Given the description of an element on the screen output the (x, y) to click on. 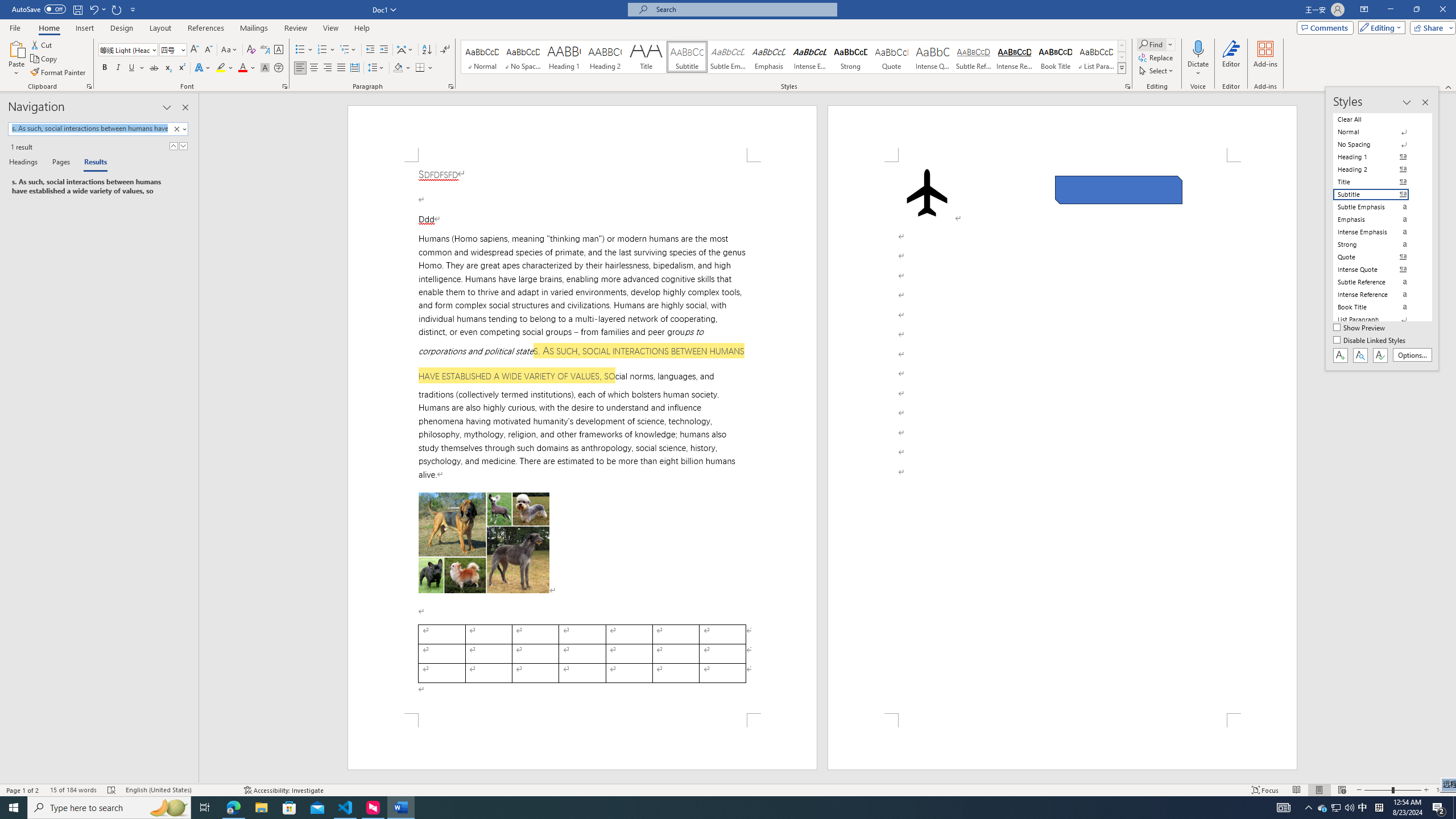
Next Result (183, 145)
Class: NetUIButton (1380, 355)
